Given the description of an element on the screen output the (x, y) to click on. 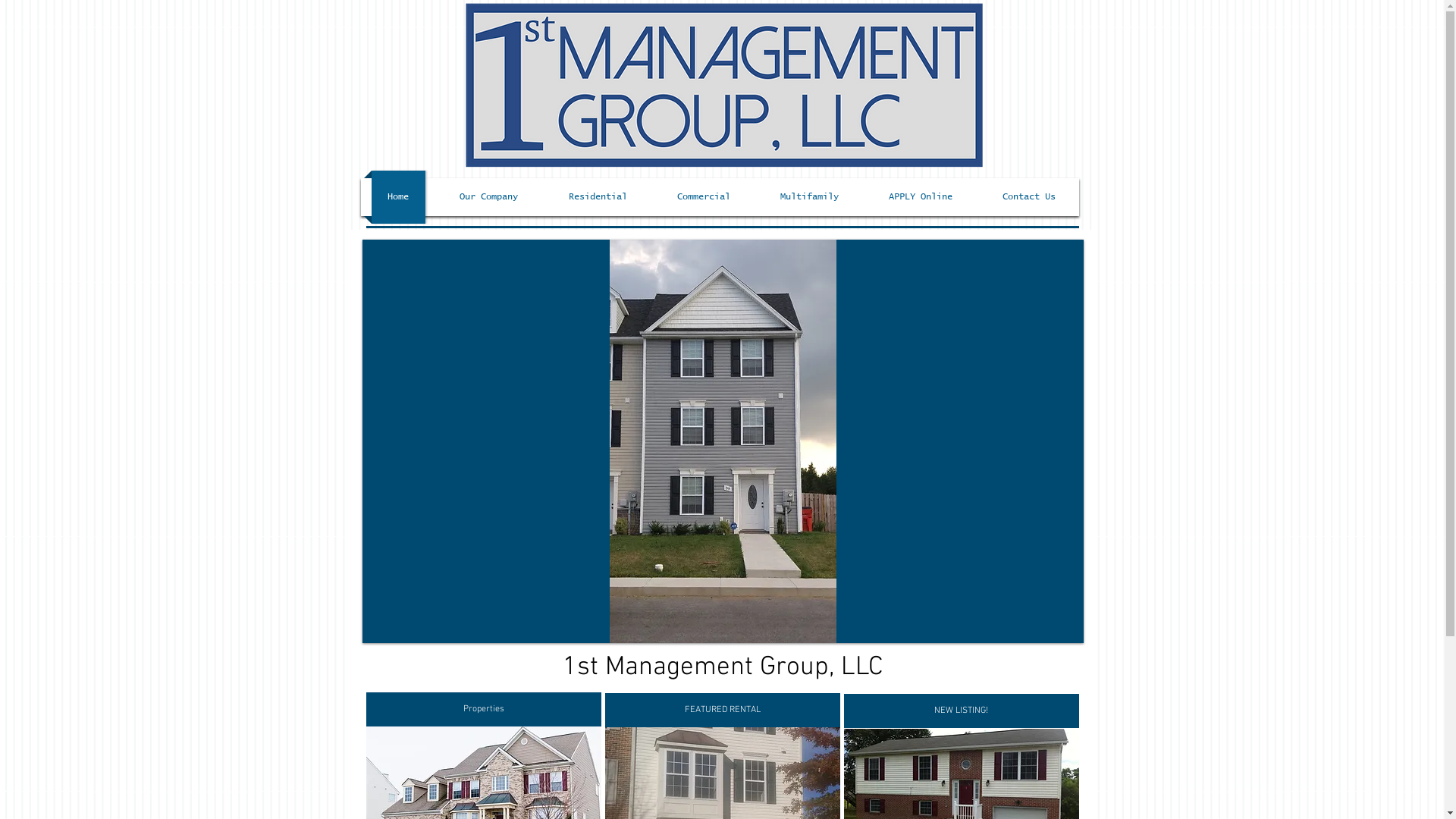
Our Company Element type: text (488, 196)
NEW LISTING! Element type: text (960, 710)
FEATURED RENTAL Element type: text (722, 710)
Home Element type: text (398, 196)
Residential Element type: text (596, 196)
APPLY Online Element type: text (919, 196)
Properties Element type: text (482, 709)
Commercial Element type: text (703, 196)
Contact Us Element type: text (1028, 196)
Multifamily Element type: text (809, 196)
